Given the description of an element on the screen output the (x, y) to click on. 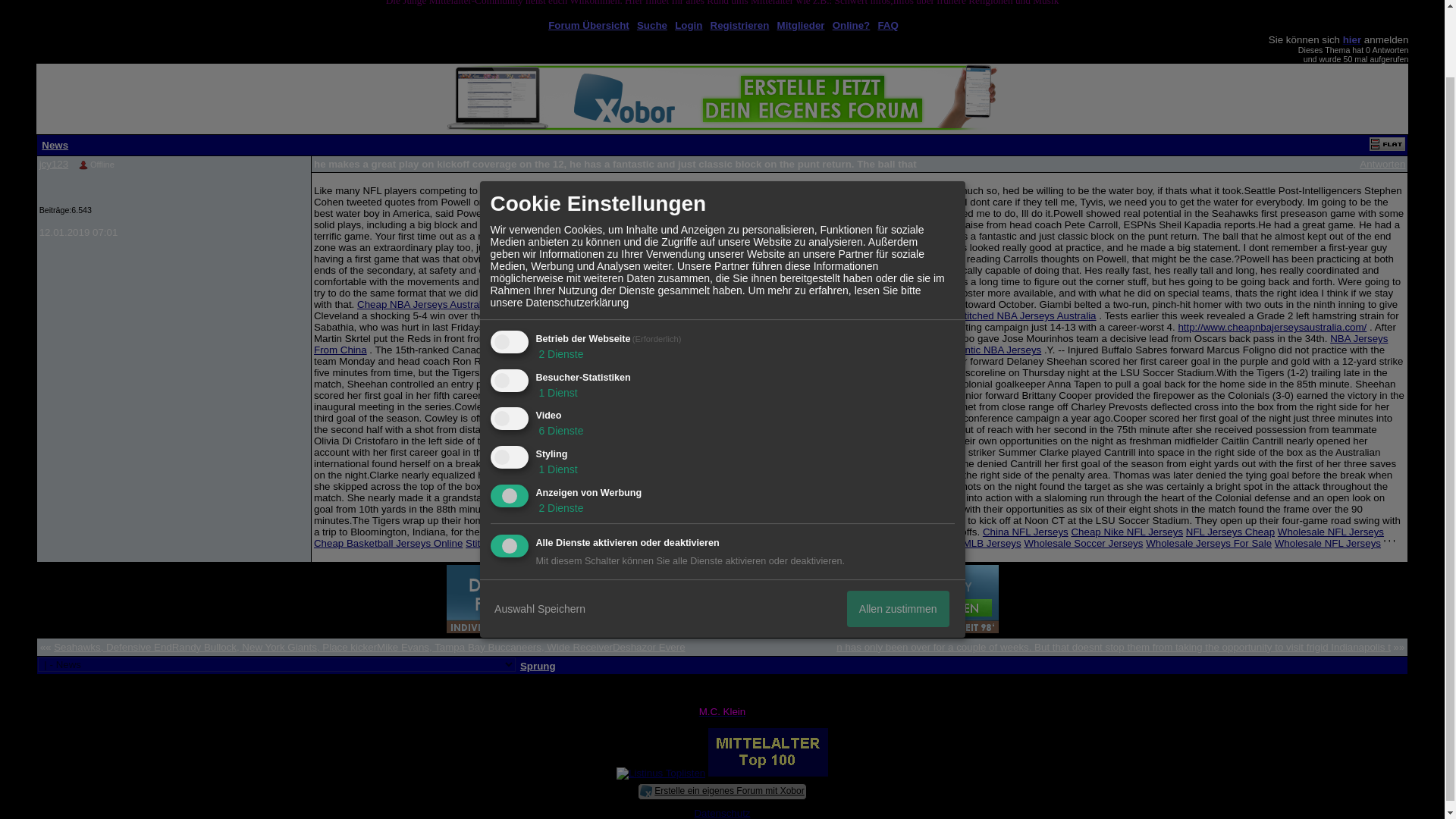
FAQ (887, 25)
Wholesale Jerseys For Sale (1208, 542)
NBA Jerseys From China (850, 343)
College Jerseys For Sale (870, 542)
Stitched Hockey Jerseys (520, 542)
M.C. Klein (721, 711)
Online? (851, 25)
Wholesale NFL Jerseys (1331, 531)
Mitglieder (801, 25)
China NFL Jerseys (1025, 531)
Antworten (1382, 163)
NFL Jerseys Cheap (1230, 531)
Stitched NBA Jerseys Australia (1027, 315)
